Given the description of an element on the screen output the (x, y) to click on. 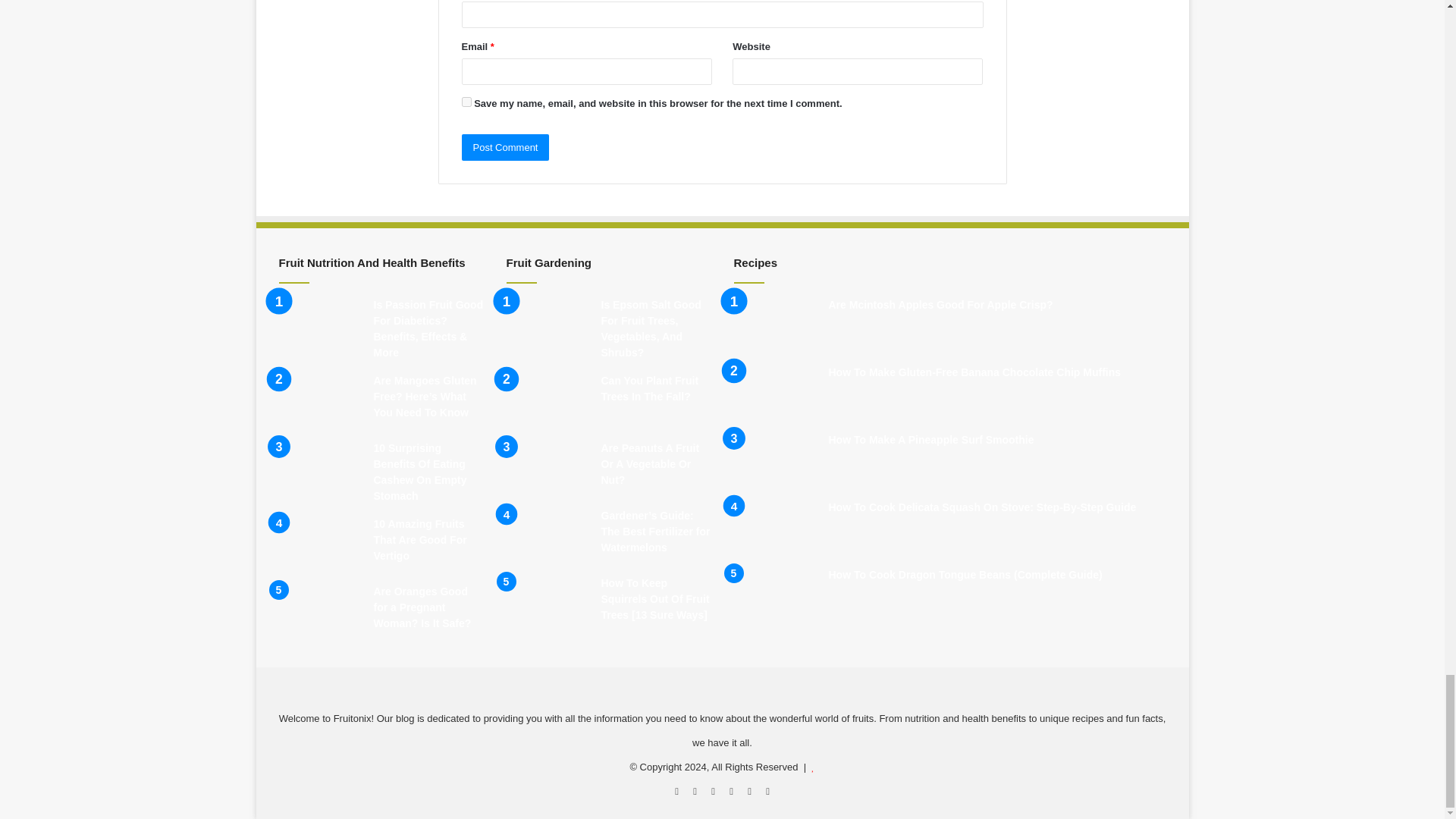
Post Comment (504, 147)
yes (465, 102)
